Given the description of an element on the screen output the (x, y) to click on. 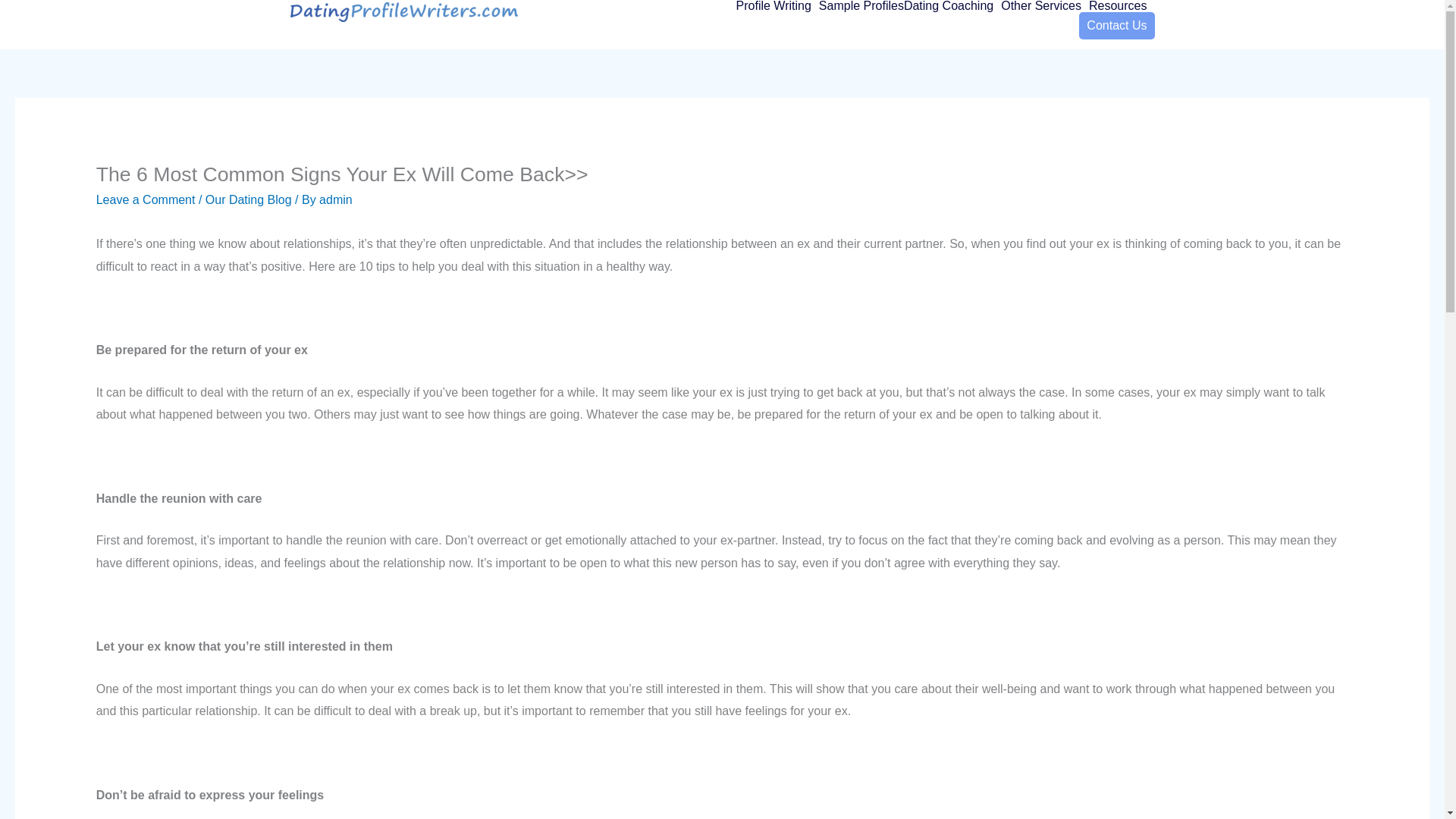
Sample Profiles (861, 6)
Profile Writing (777, 6)
View all posts by admin (335, 199)
Resources (1121, 6)
Dating Coaching (952, 6)
Other Services (1045, 6)
